Given the description of an element on the screen output the (x, y) to click on. 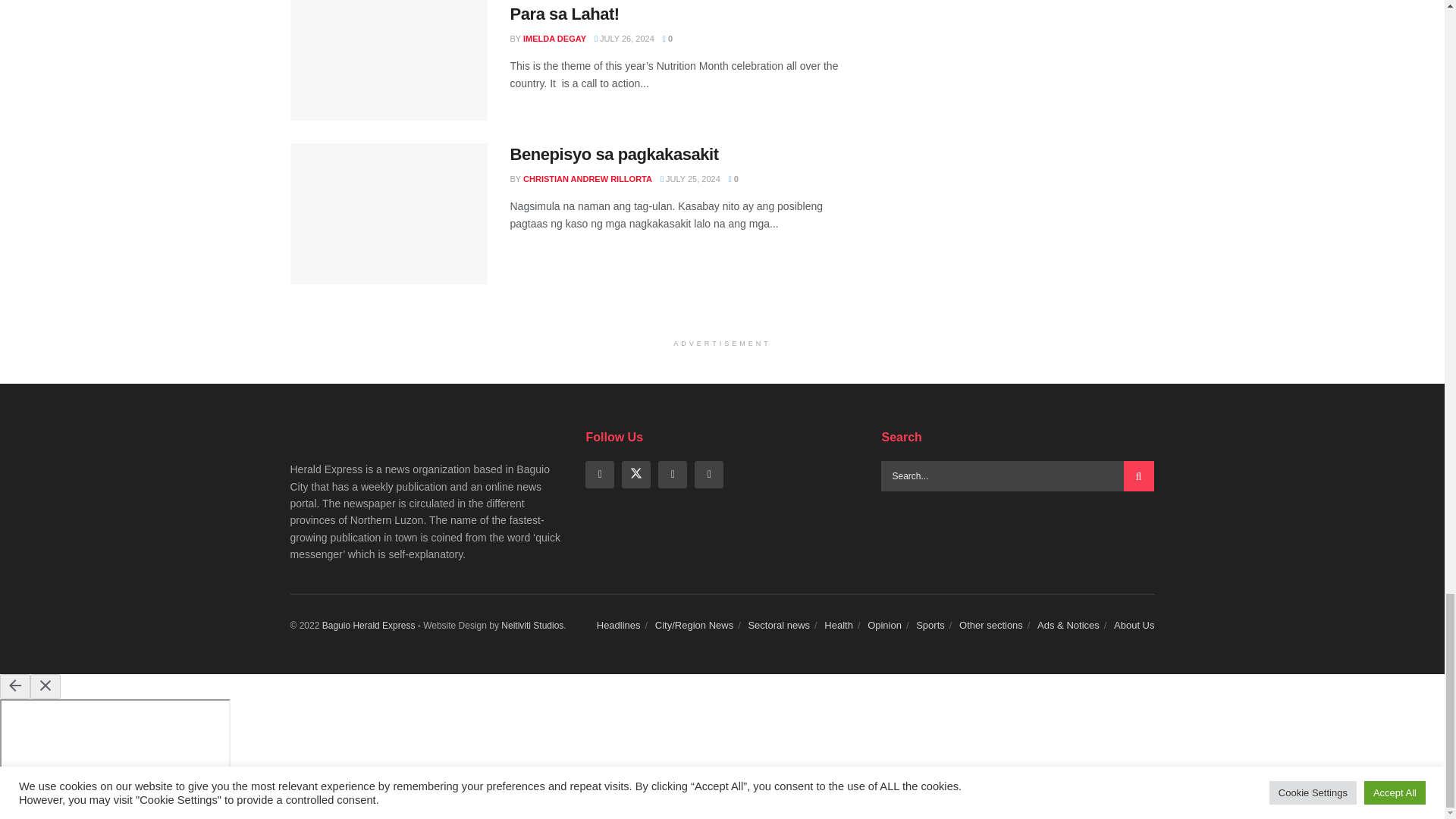
Website design by (372, 624)
Neitiviti Studios (531, 624)
